Given the description of an element on the screen output the (x, y) to click on. 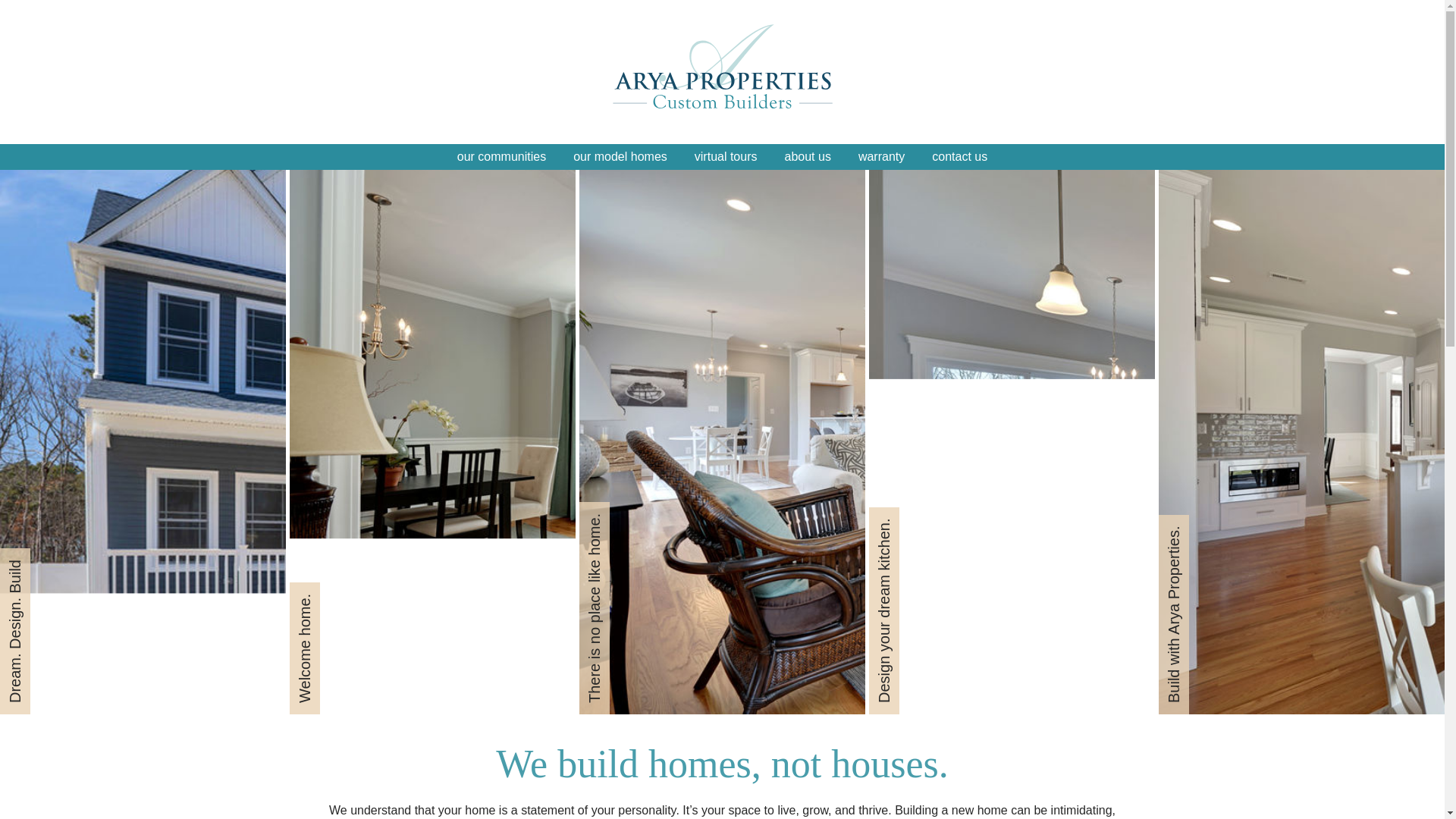
about us (807, 156)
contact us (959, 156)
Warranty (881, 156)
Our Communities (501, 156)
virtual tours (726, 156)
Contact us (959, 156)
Arya Properties Custom Builders (721, 65)
Our Model Homes (620, 156)
warranty (881, 156)
Virtual Tours (726, 156)
